Given the description of an element on the screen output the (x, y) to click on. 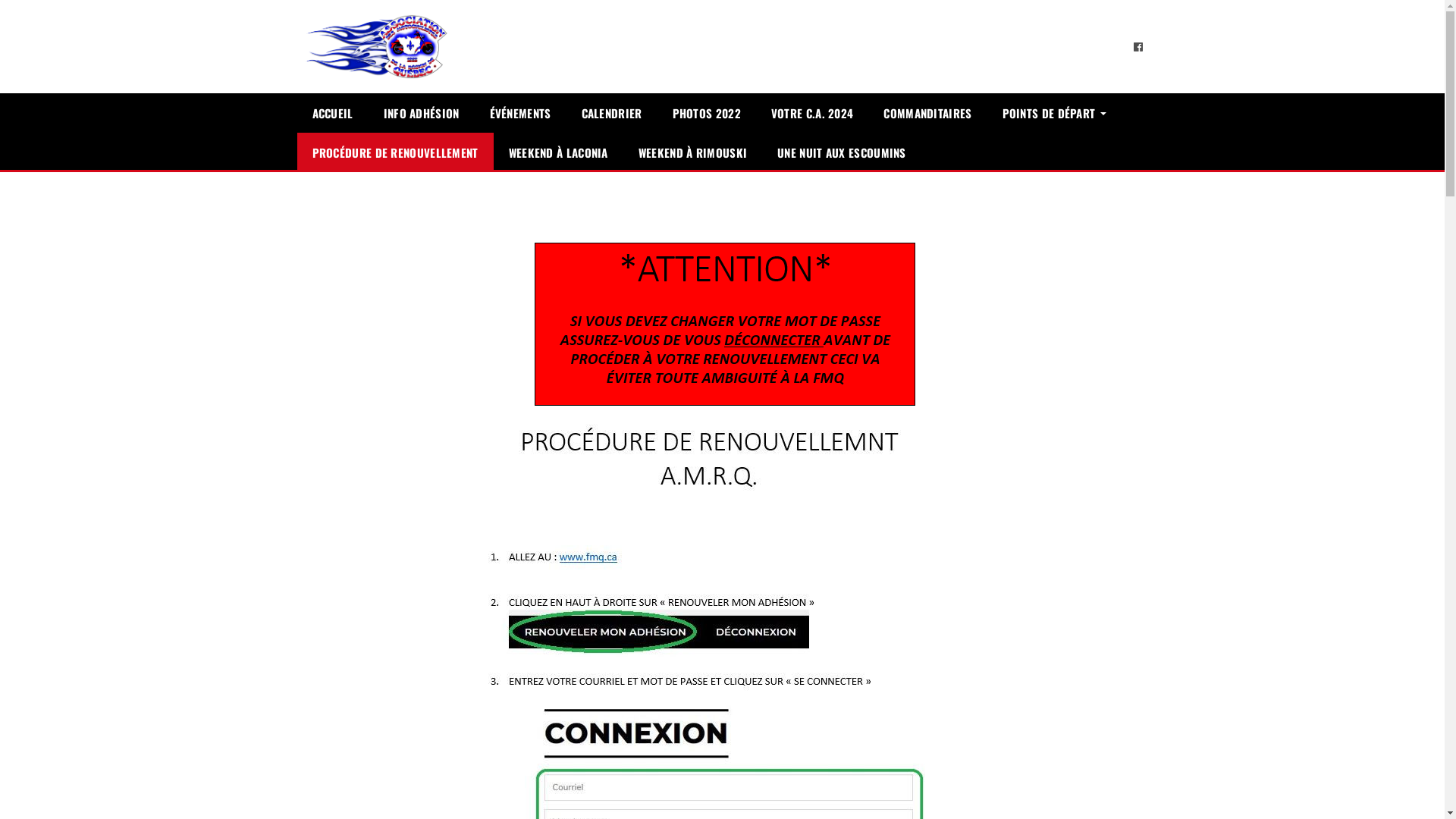
VOTRE C.A. 2024 Element type: text (812, 112)
ACCUEIL Element type: text (332, 112)
CALENDRIER Element type: text (611, 112)
facebook Element type: text (1138, 45)
PHOTOS 2022 Element type: text (706, 112)
COMMANDITAIRES Element type: text (927, 112)
UNE NUIT AUX ESCOUMINS Element type: text (841, 152)
